Given the description of an element on the screen output the (x, y) to click on. 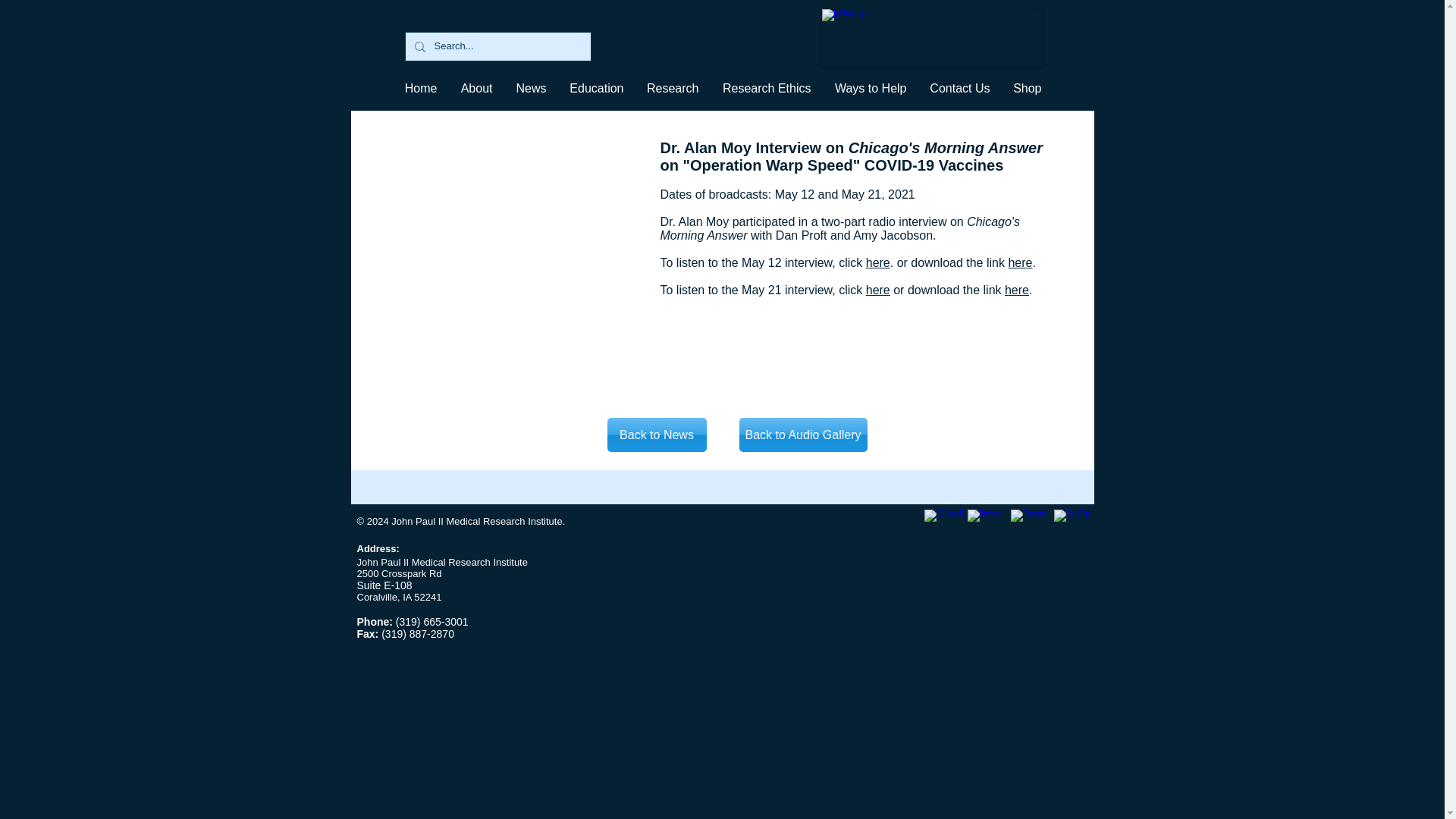
Home (419, 87)
News (530, 87)
About (475, 87)
